Given the description of an element on the screen output the (x, y) to click on. 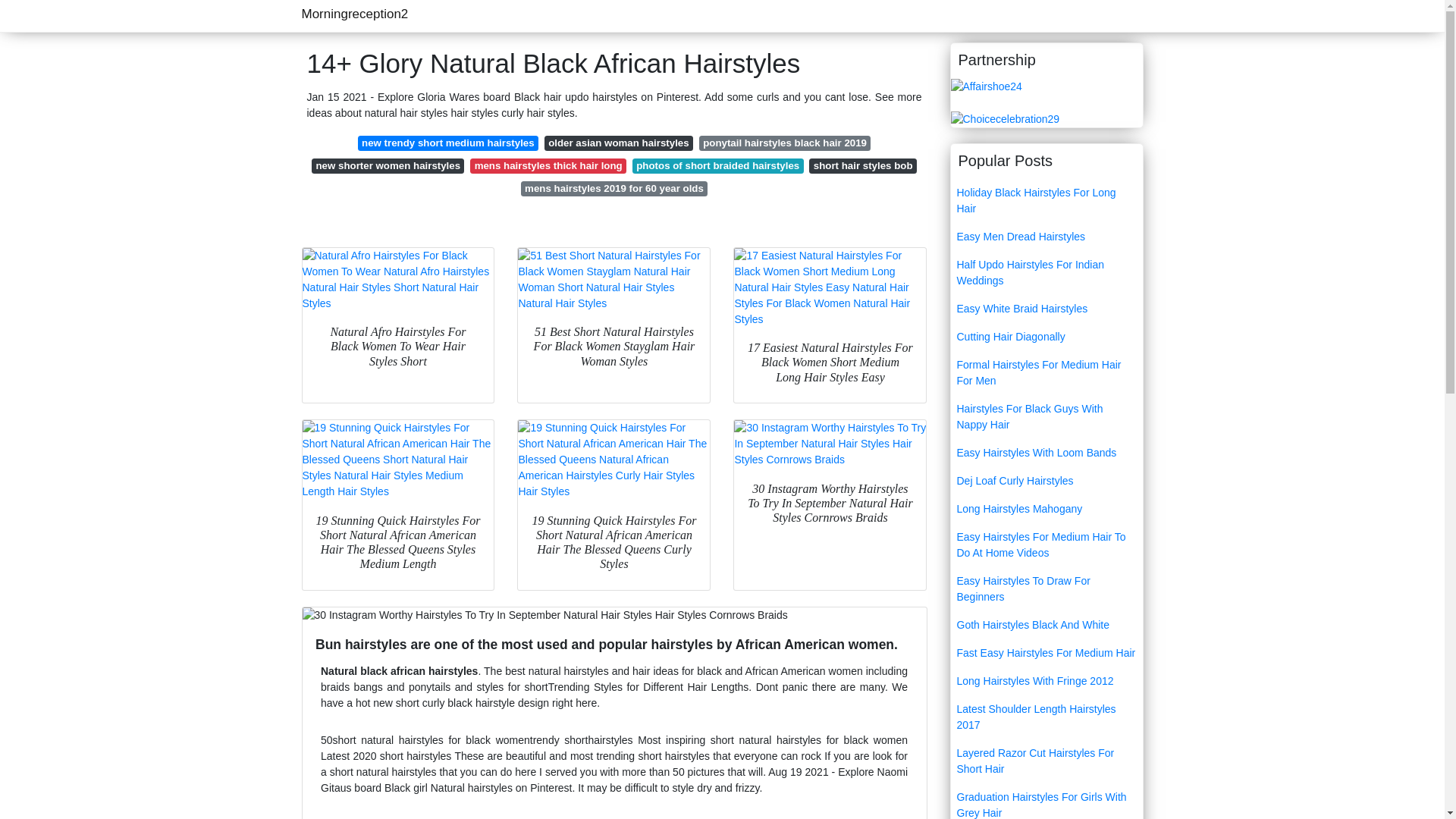
Long Hairstyles Mahogany (1046, 509)
Easy Hairstyles With Loom Bands (1046, 452)
Affairshoe24 (986, 85)
older asian woman hairstyles (618, 142)
short hair styles bob (862, 165)
Half Updo Hairstyles For Indian Weddings (1046, 272)
Easy Hairstyles For Medium Hair To Do At Home Videos (1046, 545)
mens hairstyles 2019 for 60 year olds (614, 188)
Easy White Braid Hairstyles (1046, 308)
Holiday Black Hairstyles For Long Hair (1046, 200)
photos of short braided hairstyles (717, 165)
Easy Men Dread Hairstyles (1046, 236)
Fast Easy Hairstyles For Medium Hair (1046, 653)
Easy Hairstyles To Draw For Beginners (1046, 588)
new shorter women hairstyles (387, 165)
